Given the description of an element on the screen output the (x, y) to click on. 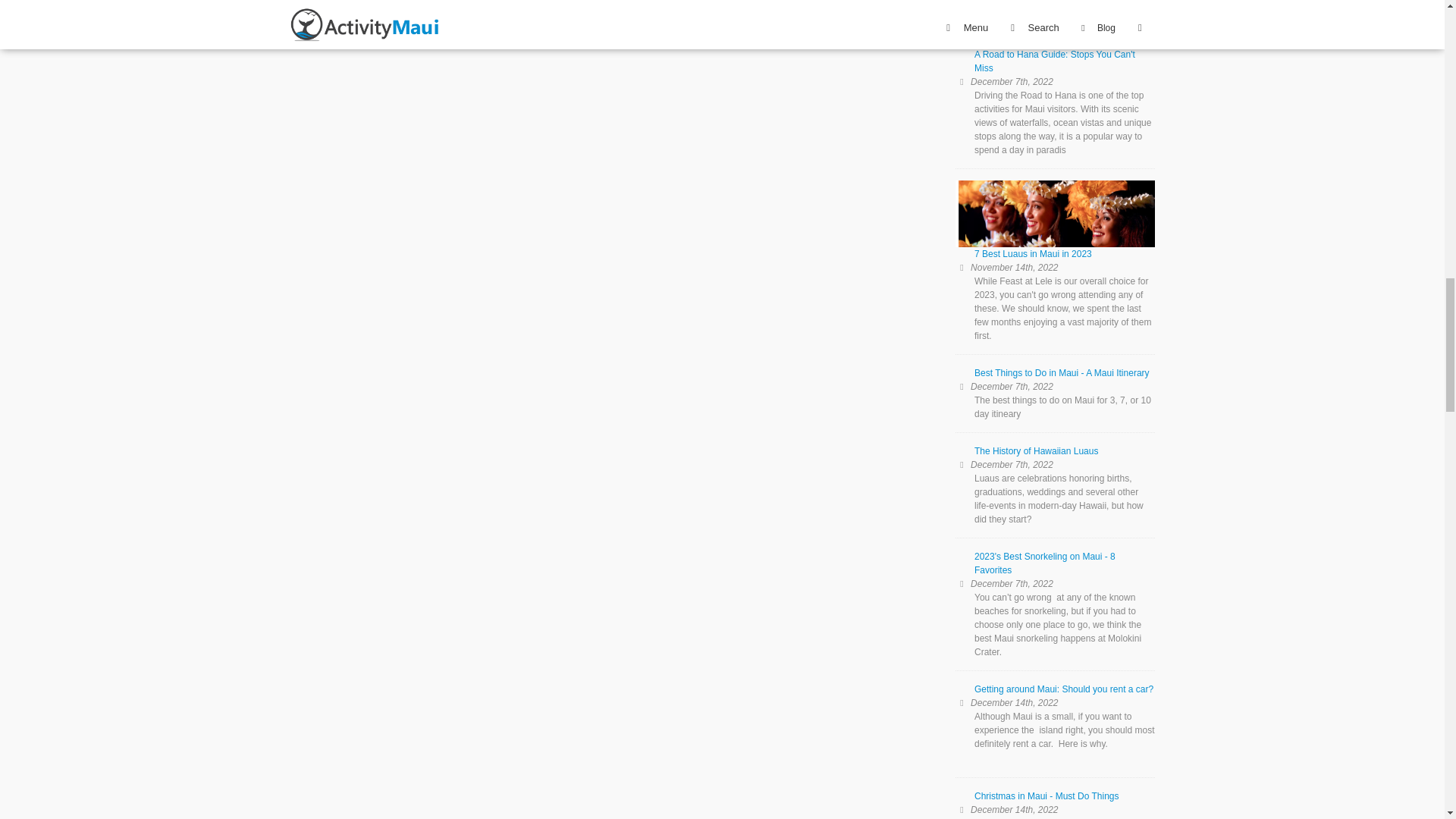
Getting around Maui: Should you rent a car? (1054, 695)
Best Things to Do in Maui - A Maui Itinerary (1054, 379)
A Road to Hana Guide: Stops You Can't Miss (1054, 66)
7 Best Luaus in Maui in 2023 (1054, 226)
2023's Best Snorkeling on Maui - 8 Favorites (1054, 568)
The History of Hawaiian Luaus (1054, 457)
